Given the description of an element on the screen output the (x, y) to click on. 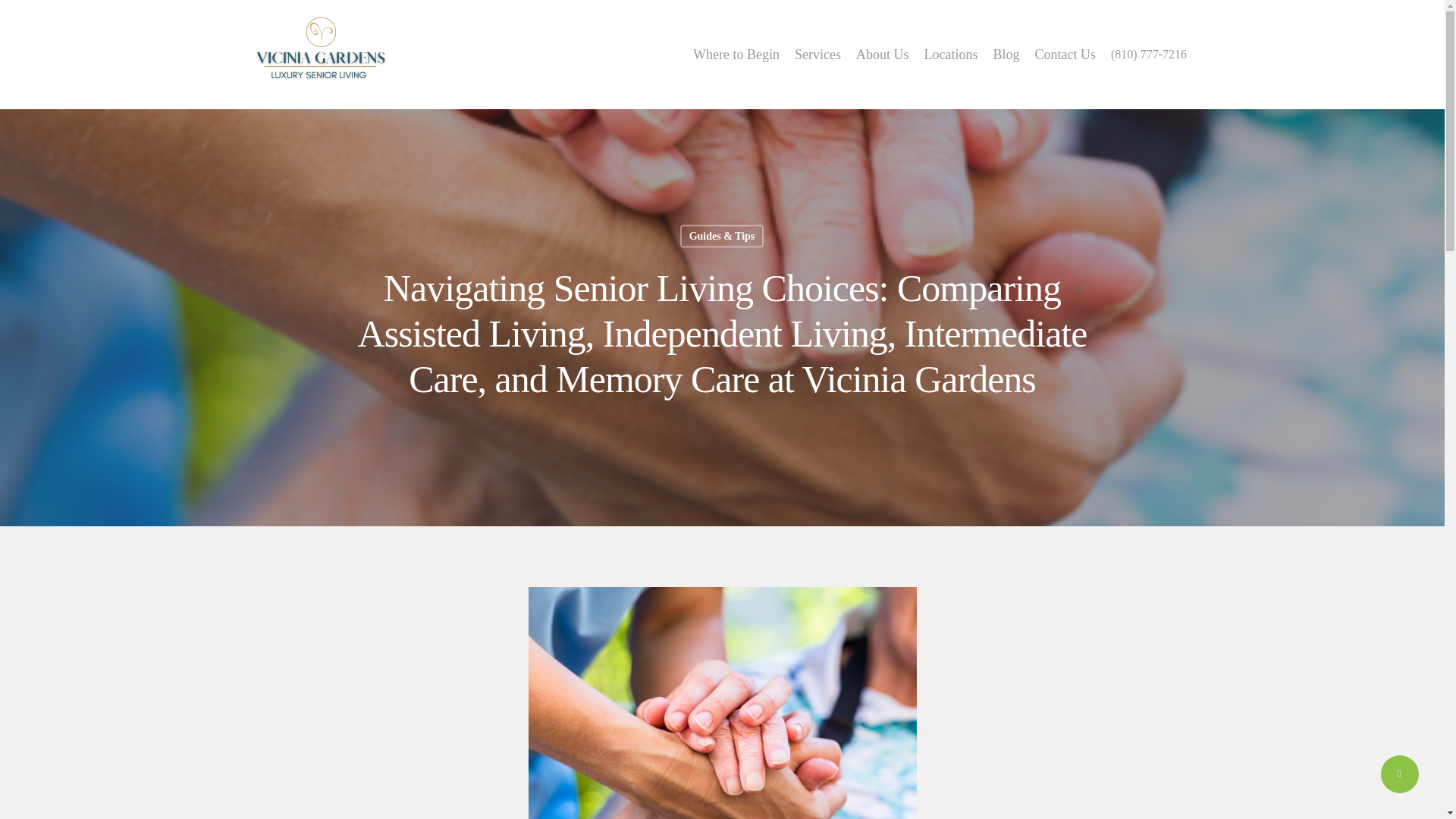
Locations (951, 54)
Blog (1006, 54)
Services (817, 54)
About Us (882, 54)
Where to Begin (735, 54)
Contact Us (1065, 54)
